Given the description of an element on the screen output the (x, y) to click on. 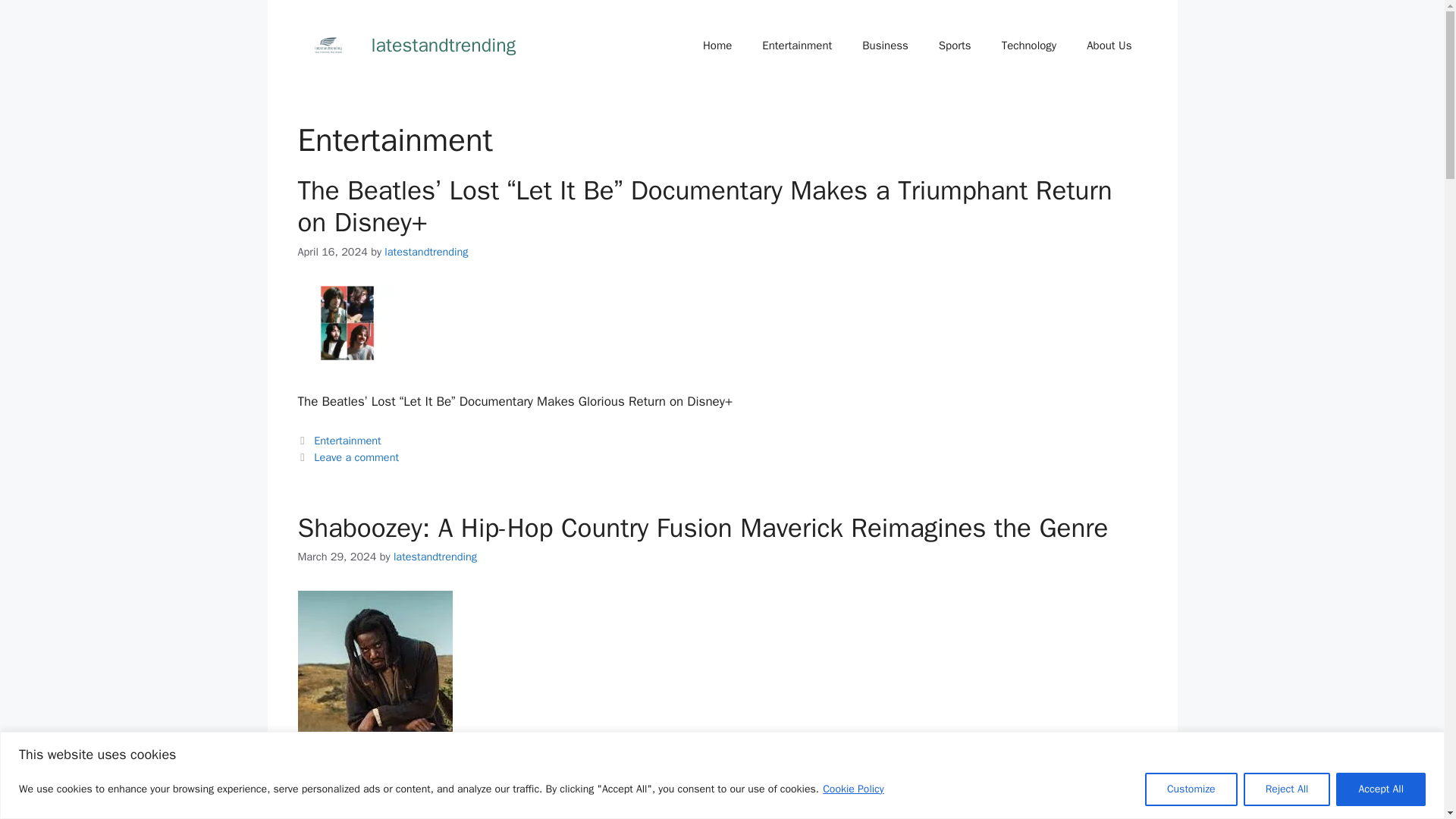
Technology (1029, 44)
latestandtrending (443, 44)
View all posts by latestandtrending (435, 556)
latestandtrending (435, 556)
Leave a comment (356, 457)
Sports (955, 44)
About Us (1109, 44)
Cookie Policy (853, 788)
View all posts by latestandtrending (425, 251)
